Given the description of an element on the screen output the (x, y) to click on. 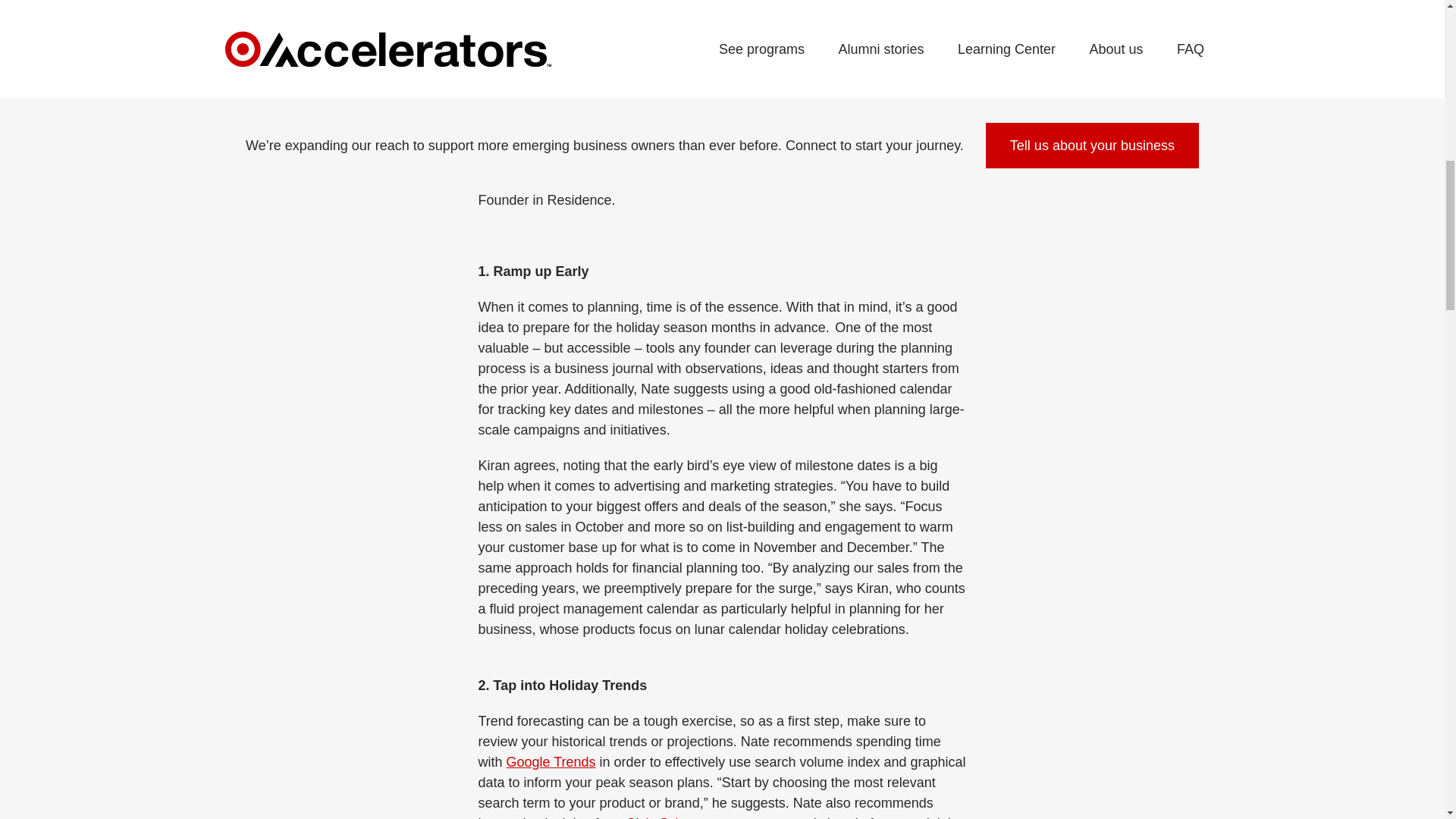
Young King Hair Care (634, 179)
Google Trends (550, 761)
Civic Science (666, 817)
